Given the description of an element on the screen output the (x, y) to click on. 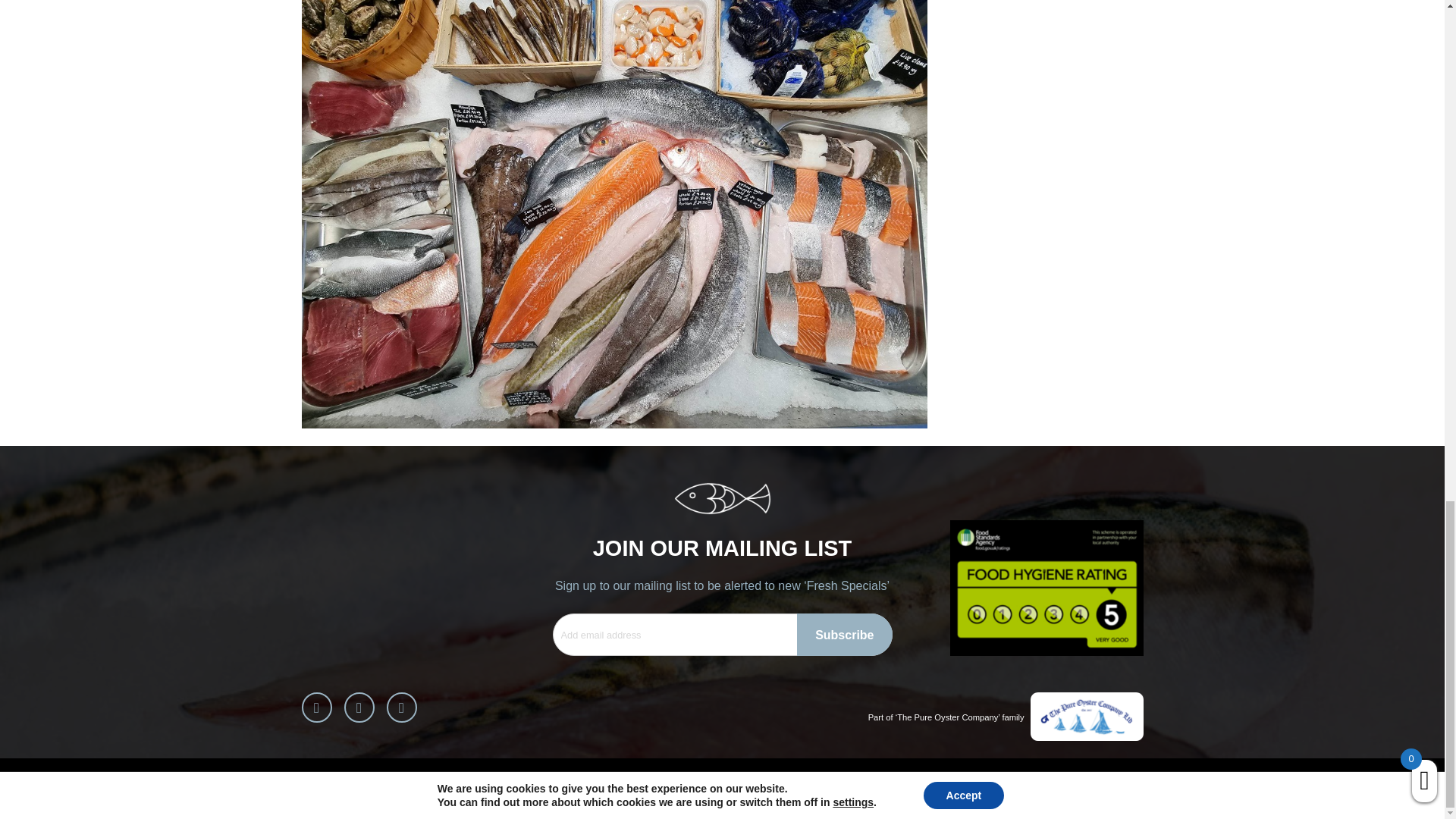
Subscribe (843, 634)
